Given the description of an element on the screen output the (x, y) to click on. 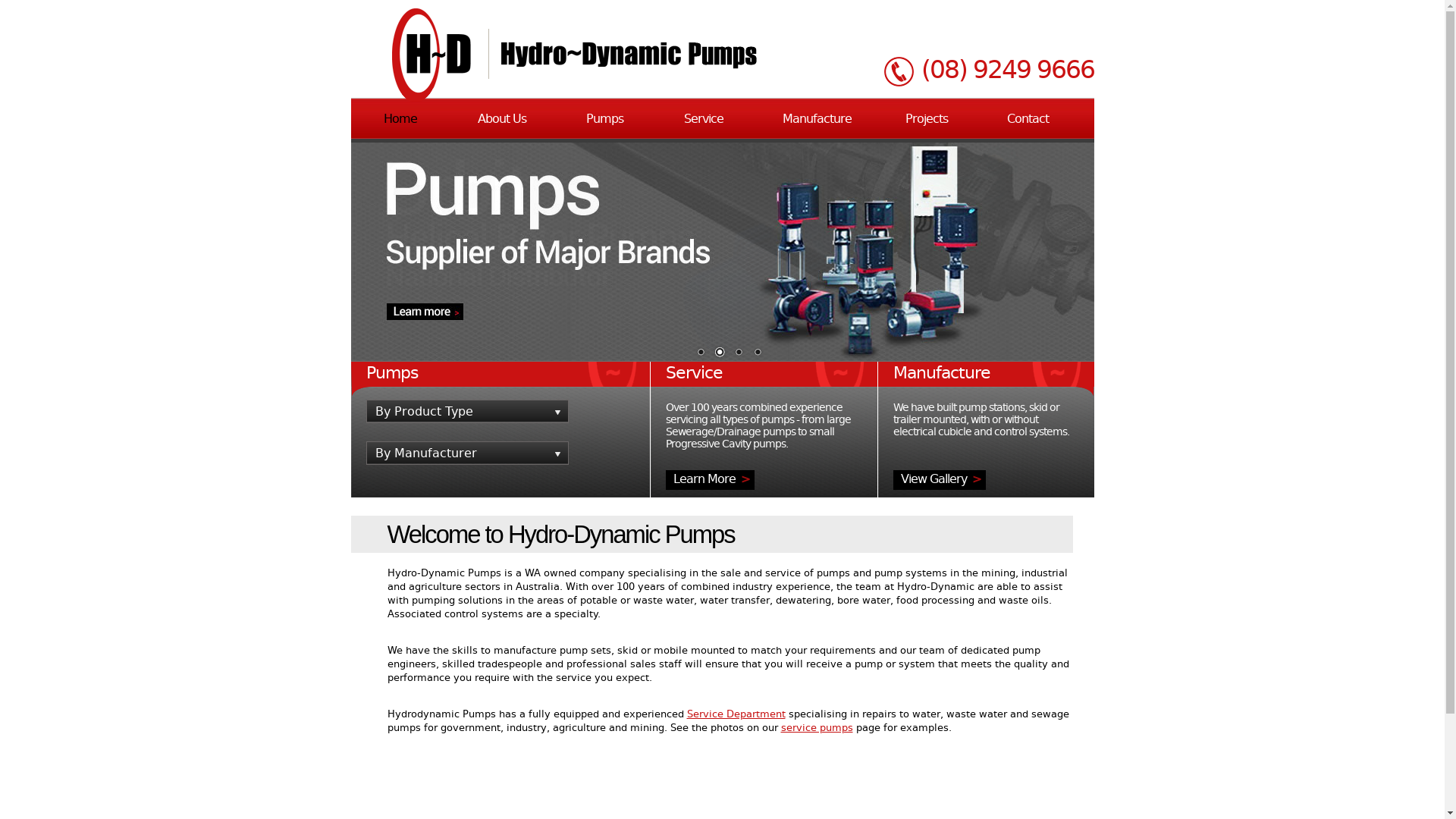
Projects Element type: text (926, 118)
Manufacture Element type: text (816, 118)
By Product Type Element type: text (466, 411)
2 Element type: text (719, 353)
4 Element type: text (757, 353)
Home Element type: text (400, 118)
View Gallery > Element type: text (939, 479)
service pumps Element type: text (817, 727)
By Manufacturer Element type: text (466, 452)
1 Element type: text (699, 353)
Learn More > Element type: text (709, 479)
3 Element type: text (737, 353)
Service Department Element type: text (736, 713)
Service Element type: text (703, 118)
About Us Element type: text (501, 118)
Contact Element type: text (1027, 118)
Pumps Element type: text (603, 118)
